Given the description of an element on the screen output the (x, y) to click on. 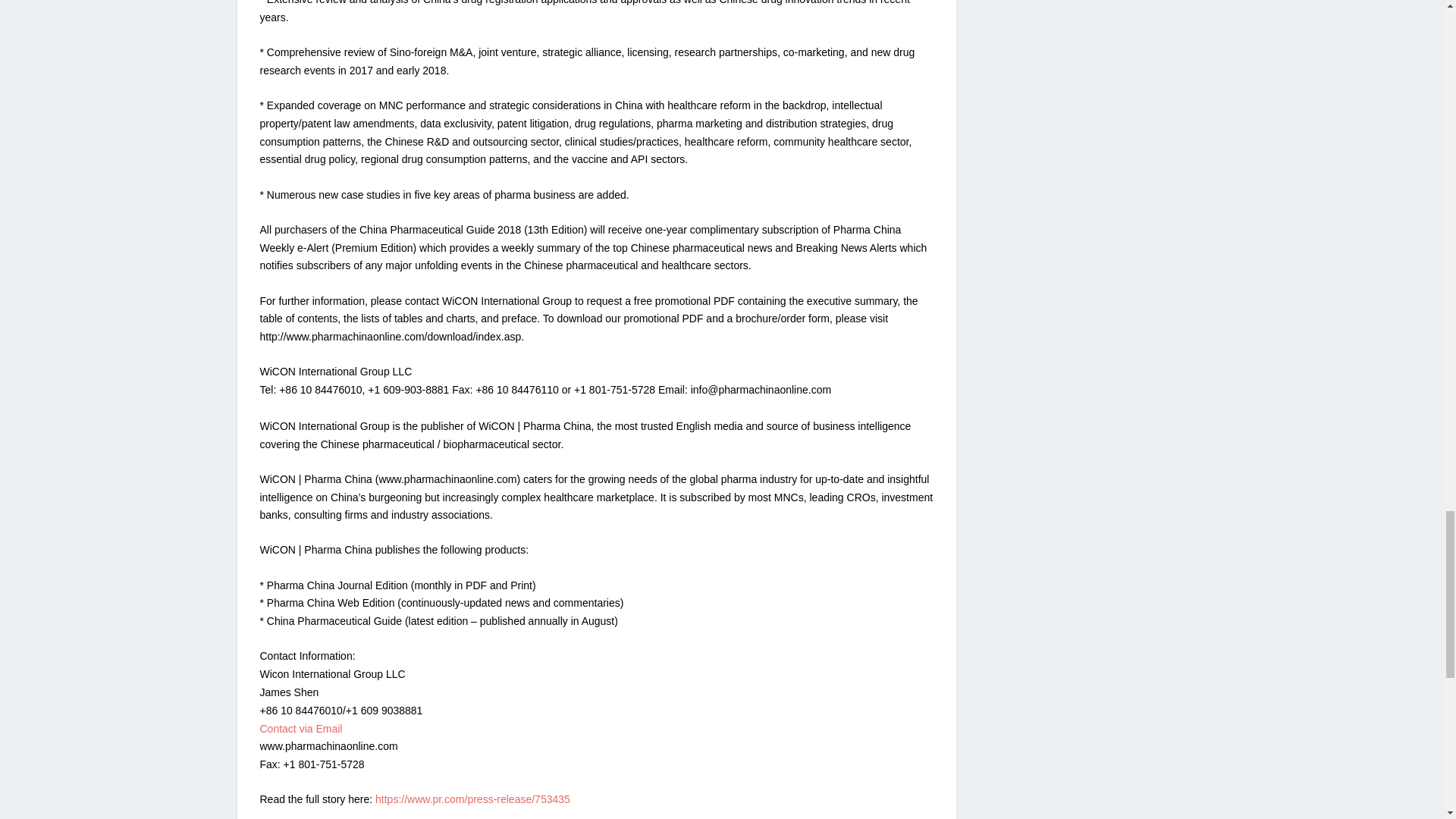
Contact via Email (300, 728)
